Given the description of an element on the screen output the (x, y) to click on. 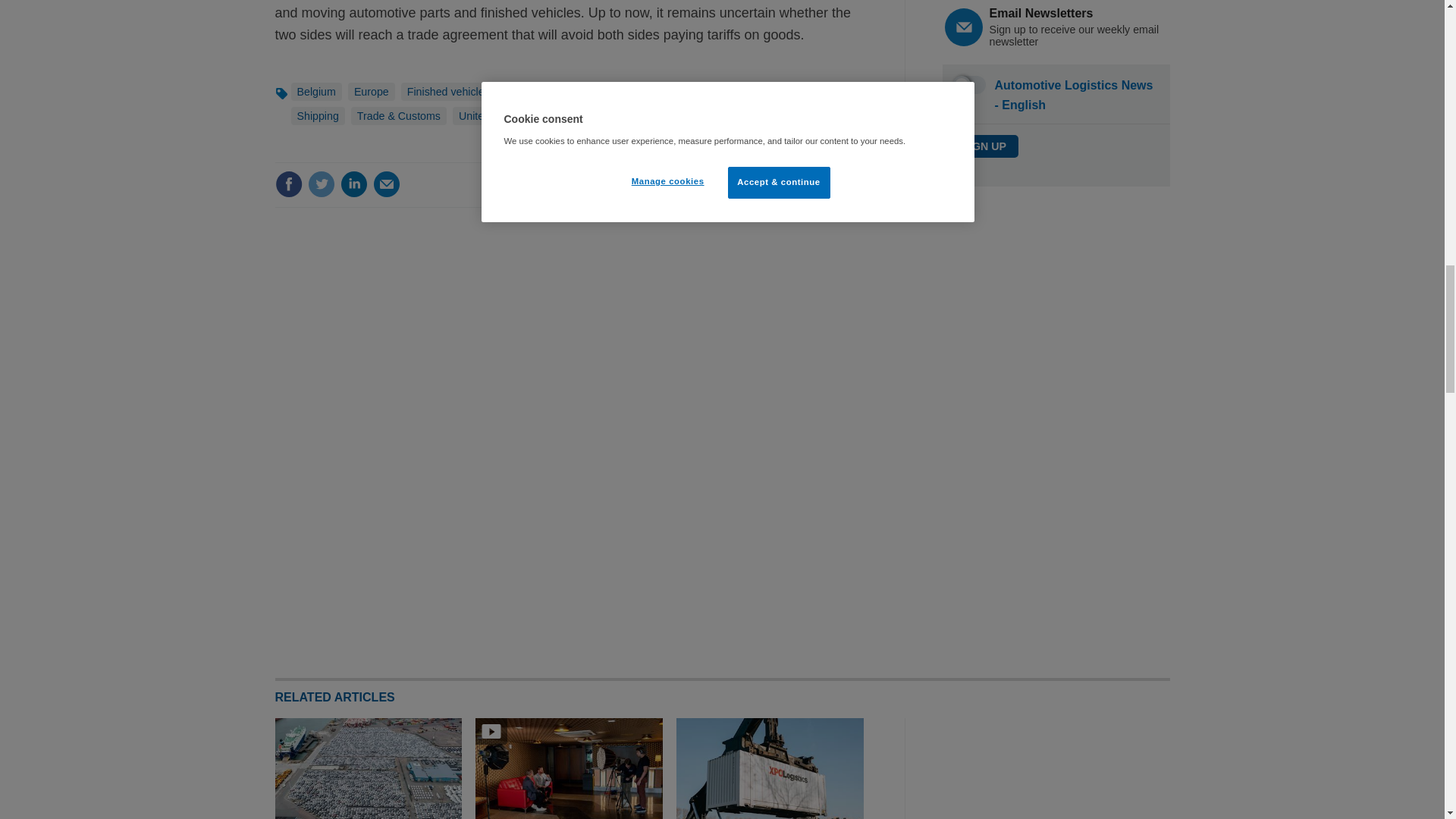
Share this on Facebook (288, 184)
Share this on Twitter (320, 184)
Share this on Linked in (352, 184)
3rd party ad content (1055, 768)
No comments (812, 192)
Email this article (386, 184)
